Given the description of an element on the screen output the (x, y) to click on. 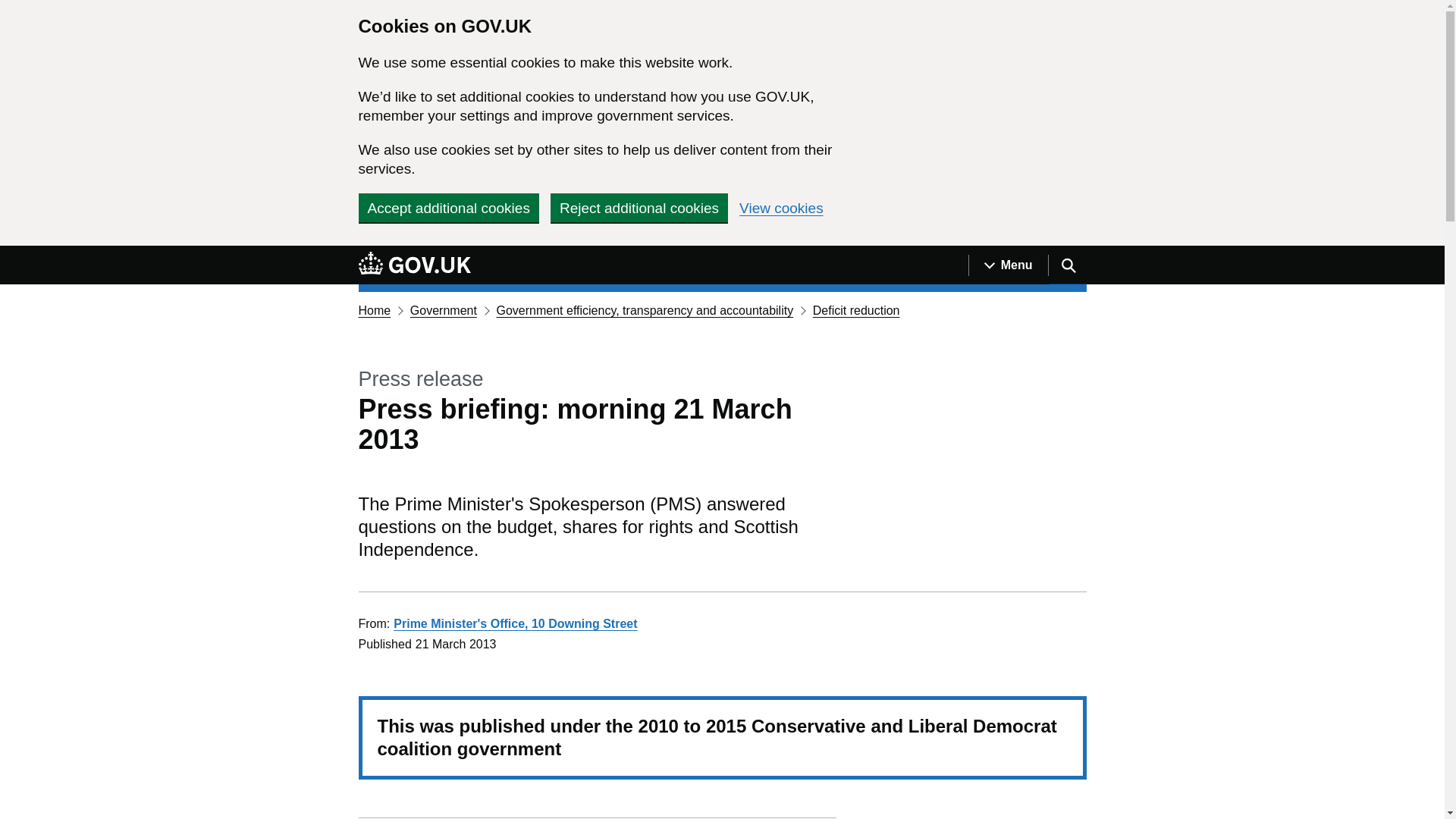
Search GOV.UK (1067, 265)
Menu (1008, 265)
Government efficiency, transparency and accountability (644, 309)
View cookies (781, 207)
GOV.UK (414, 262)
Accept additional cookies (448, 207)
Government (443, 309)
Skip to main content (11, 254)
Reject additional cookies (639, 207)
GOV.UK (414, 264)
